Given the description of an element on the screen output the (x, y) to click on. 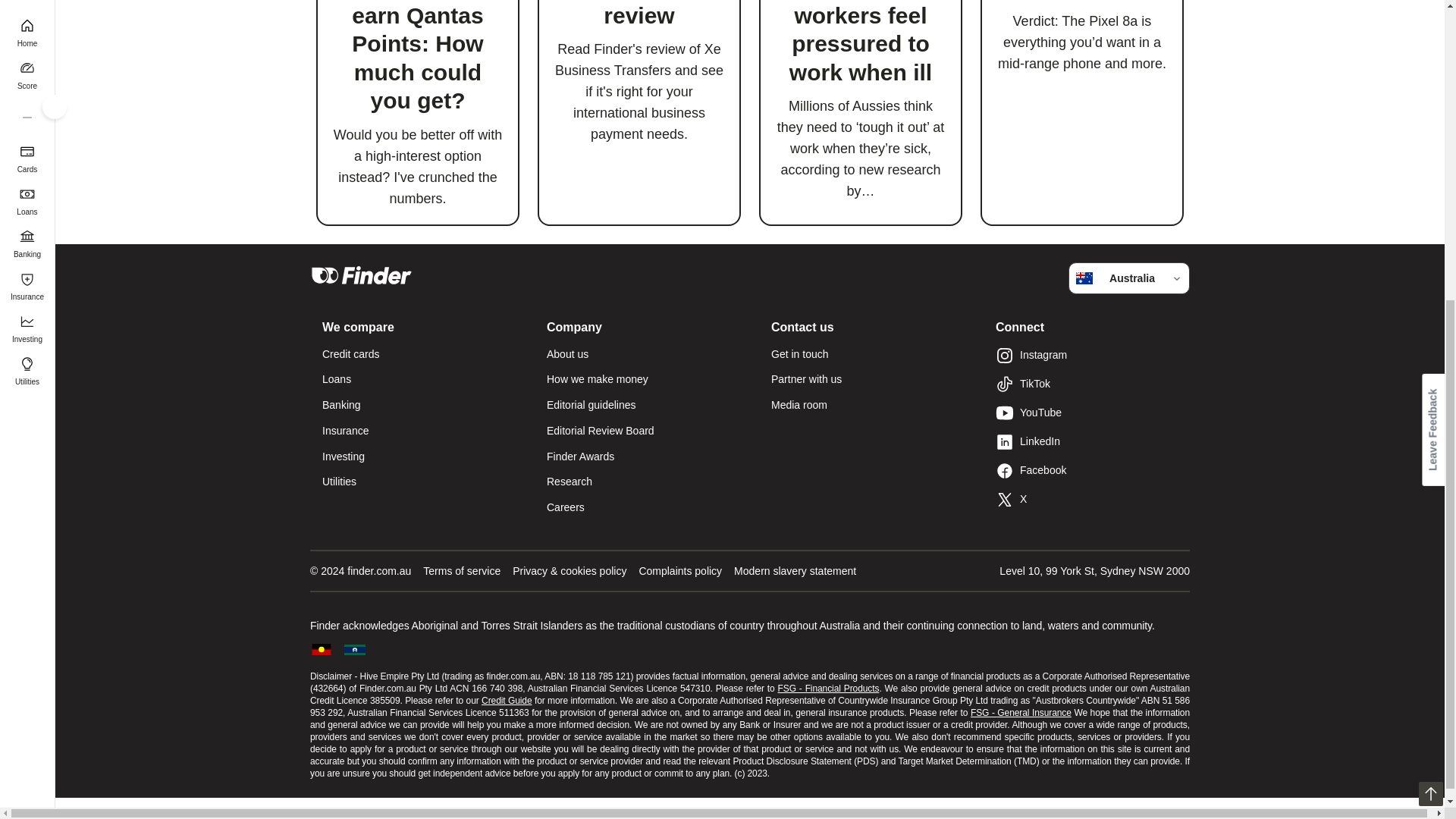
Back to Top (1430, 314)
